Given the description of an element on the screen output the (x, y) to click on. 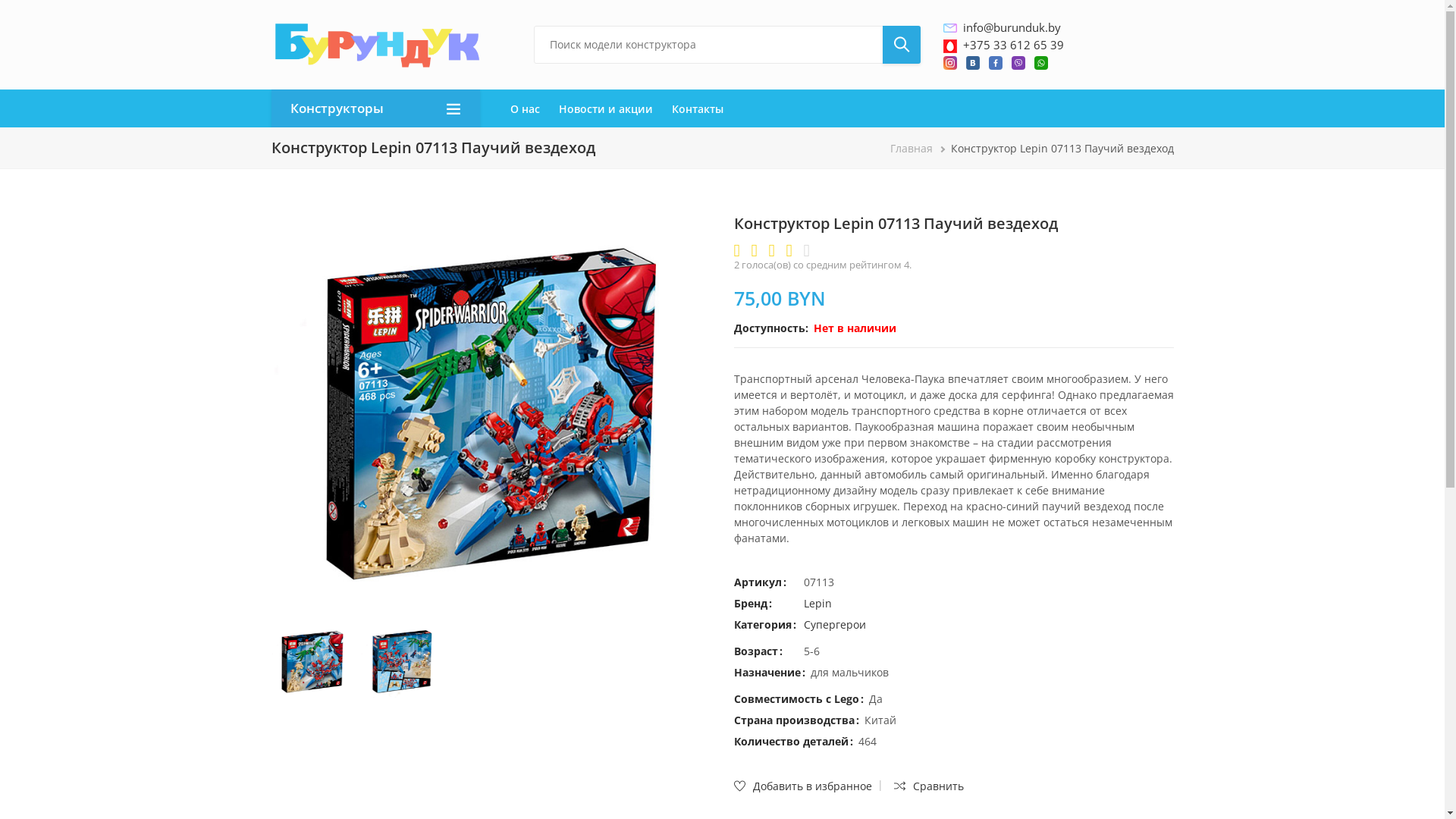
Lepin Element type: text (817, 603)
whatsapp Element type: hover (1041, 62)
vkontakte Element type: hover (972, 62)
viber Element type: hover (1018, 62)
info@burunduk.by Element type: text (1011, 26)
facebook Element type: hover (995, 62)
+375 33 612 65 39 Element type: hover (950, 46)
+375 33 612 65 39 Element type: text (1013, 43)
instagram Element type: hover (950, 62)
info@burunduk.by Element type: hover (950, 27)
